Given the description of an element on the screen output the (x, y) to click on. 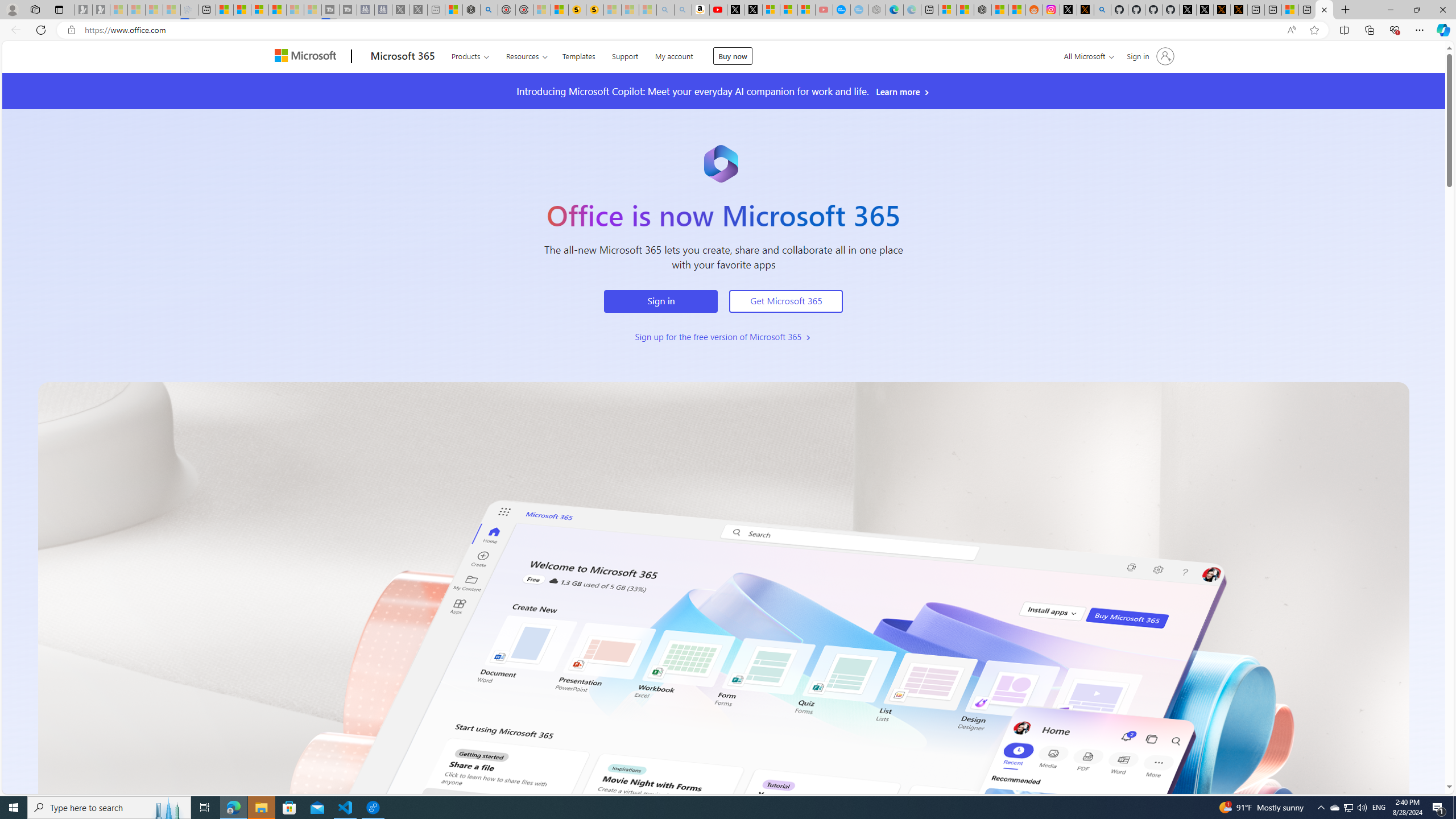
App bar (728, 29)
GitHub (@github) / X (1204, 9)
Microsoft Start - Sleeping (294, 9)
Templates (578, 54)
Microsoft (306, 56)
Nordace - Summer Adventures 2024 (470, 9)
Profile / X (1187, 9)
Sign in to your account (1149, 55)
